Given the description of an element on the screen output the (x, y) to click on. 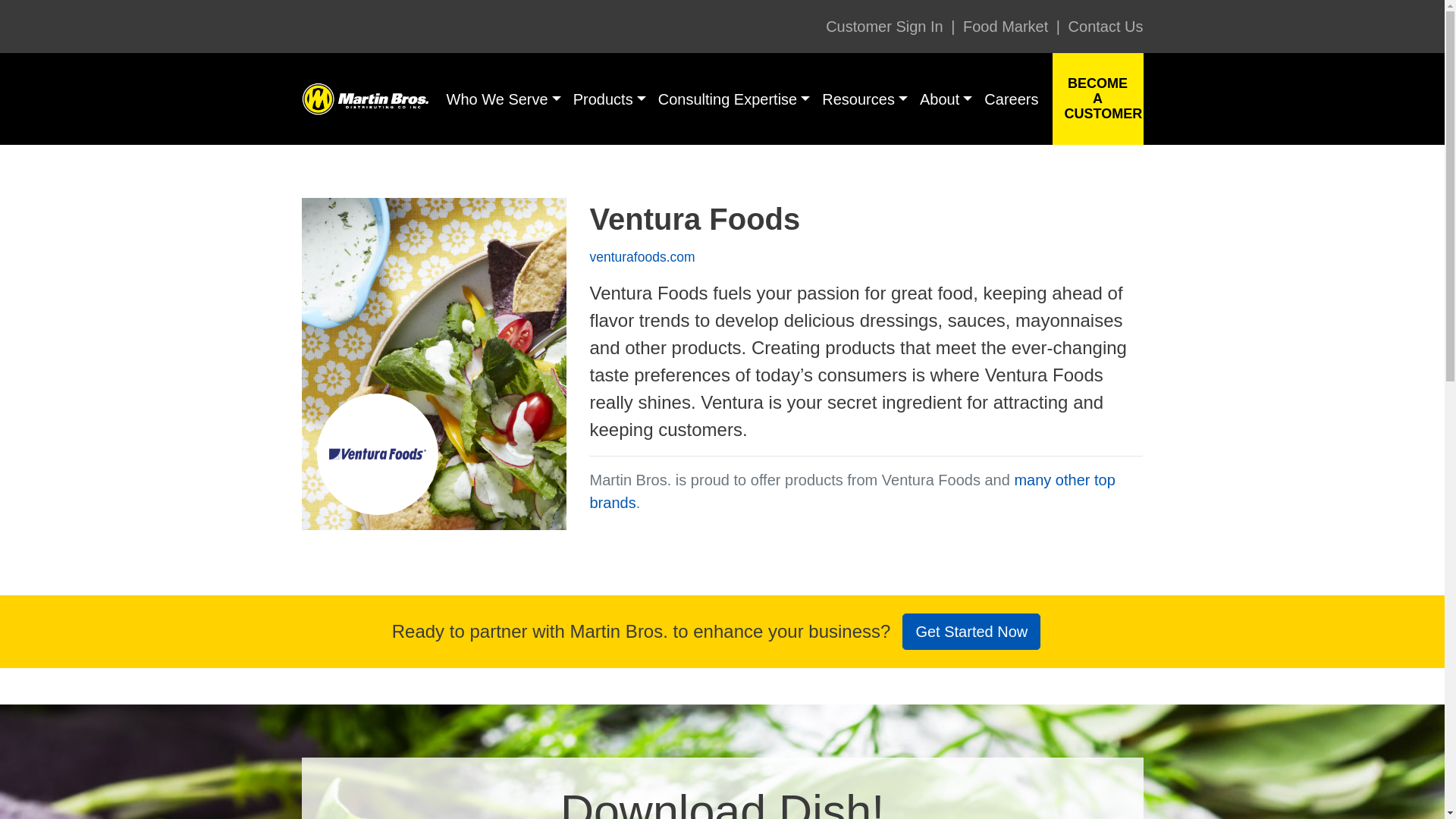
Products (609, 98)
Careers (1010, 98)
Food Market (1005, 26)
About (946, 98)
Who We Serve (504, 98)
Customer Sign In (884, 26)
Contact Us (1103, 26)
Consulting Expertise (734, 98)
Resources (864, 98)
